Given the description of an element on the screen output the (x, y) to click on. 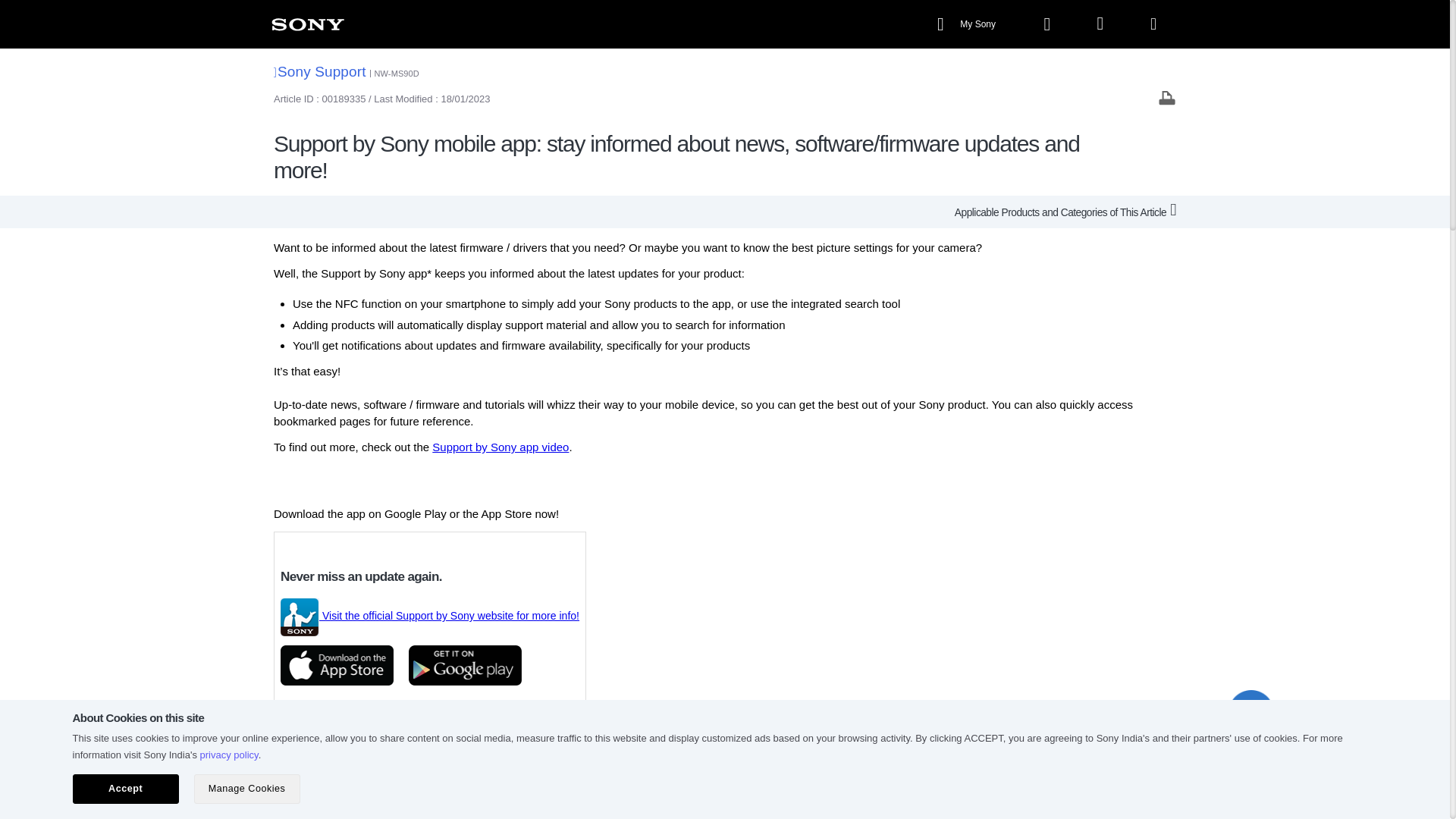
Contact Us (713, 799)
My Sony (967, 24)
Sony Virtual Assistant (1251, 712)
Print (1166, 97)
